Given the description of an element on the screen output the (x, y) to click on. 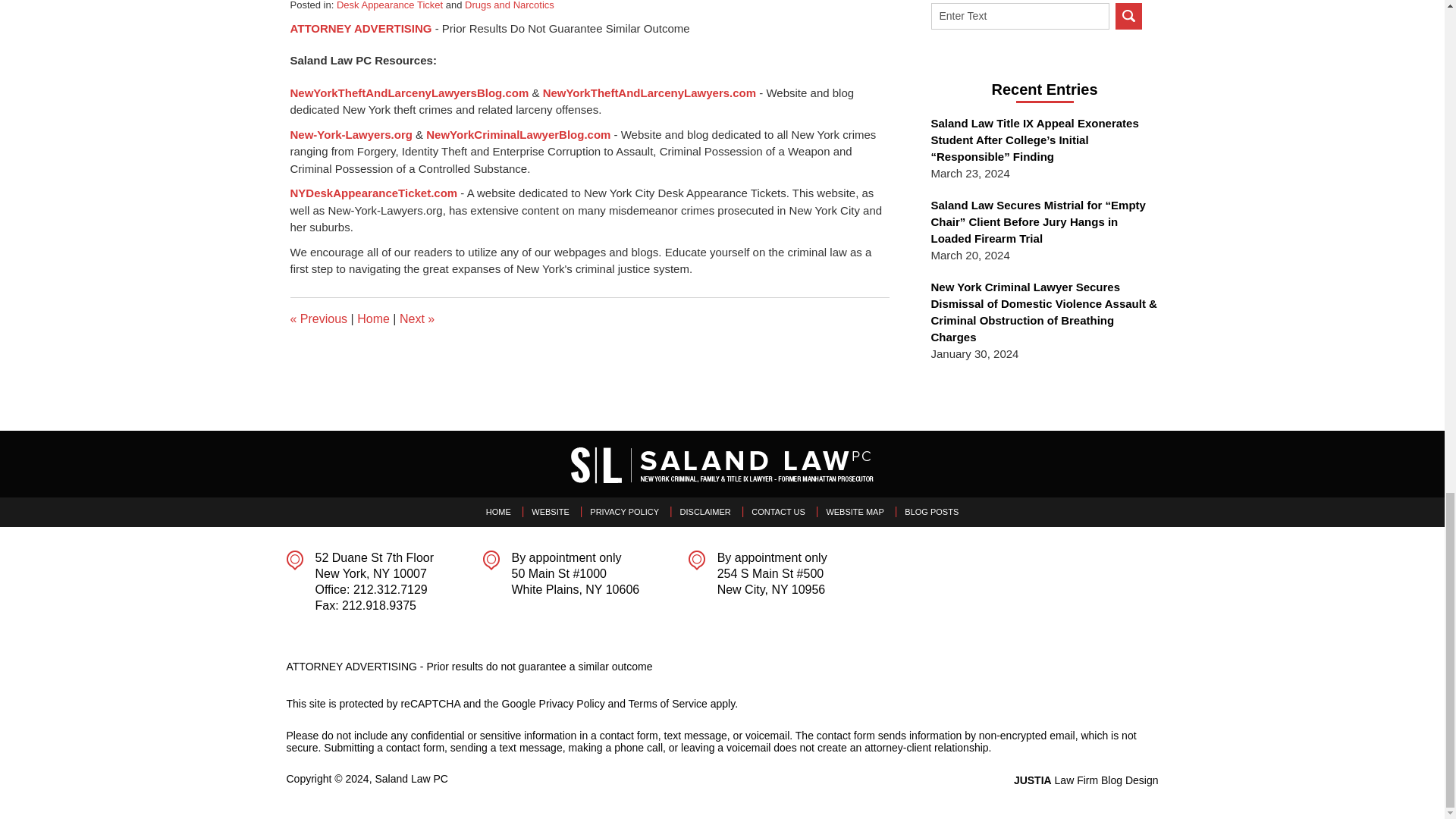
NewYorkTheftAndLarcenyLawyersBlog.com (408, 92)
NewYorkTheftAndLarcenyLawyers.com (649, 92)
NewYorkCriminalLawyerBlog.com (518, 133)
ATTORNEY ADVERTISING (359, 28)
View all posts in Drugs and Narcotics (509, 5)
NYDeskAppearanceTicket.com (373, 192)
New-York-Lawyers.org (350, 133)
Home (373, 318)
Desk Appearance Ticket (389, 5)
View all posts in Desk Appearance Ticket (389, 5)
Drugs and Narcotics (509, 5)
